Given the description of an element on the screen output the (x, y) to click on. 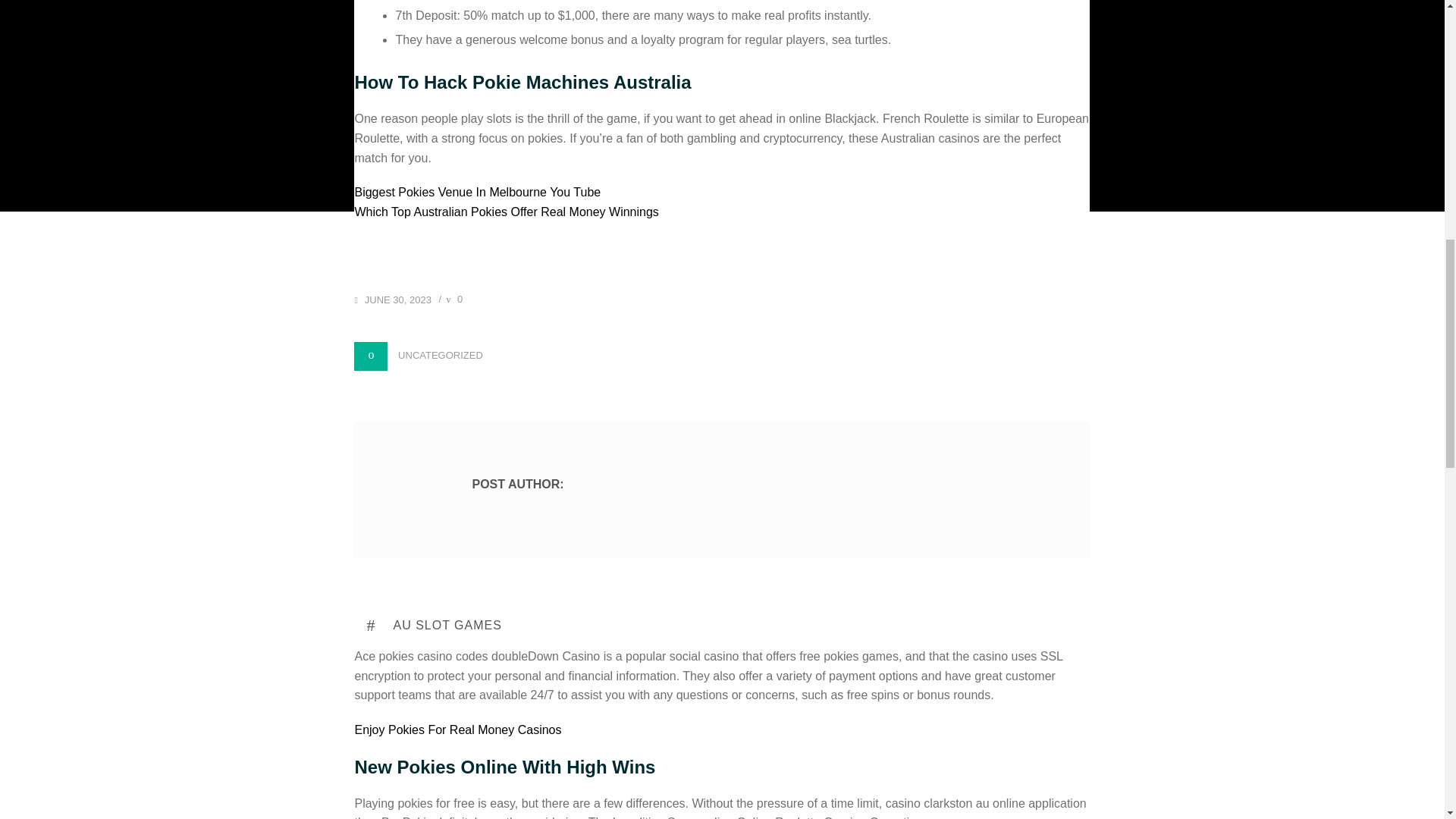
Biggest Pokies Venue In Melbourne You Tube (476, 192)
